Given the description of an element on the screen output the (x, y) to click on. 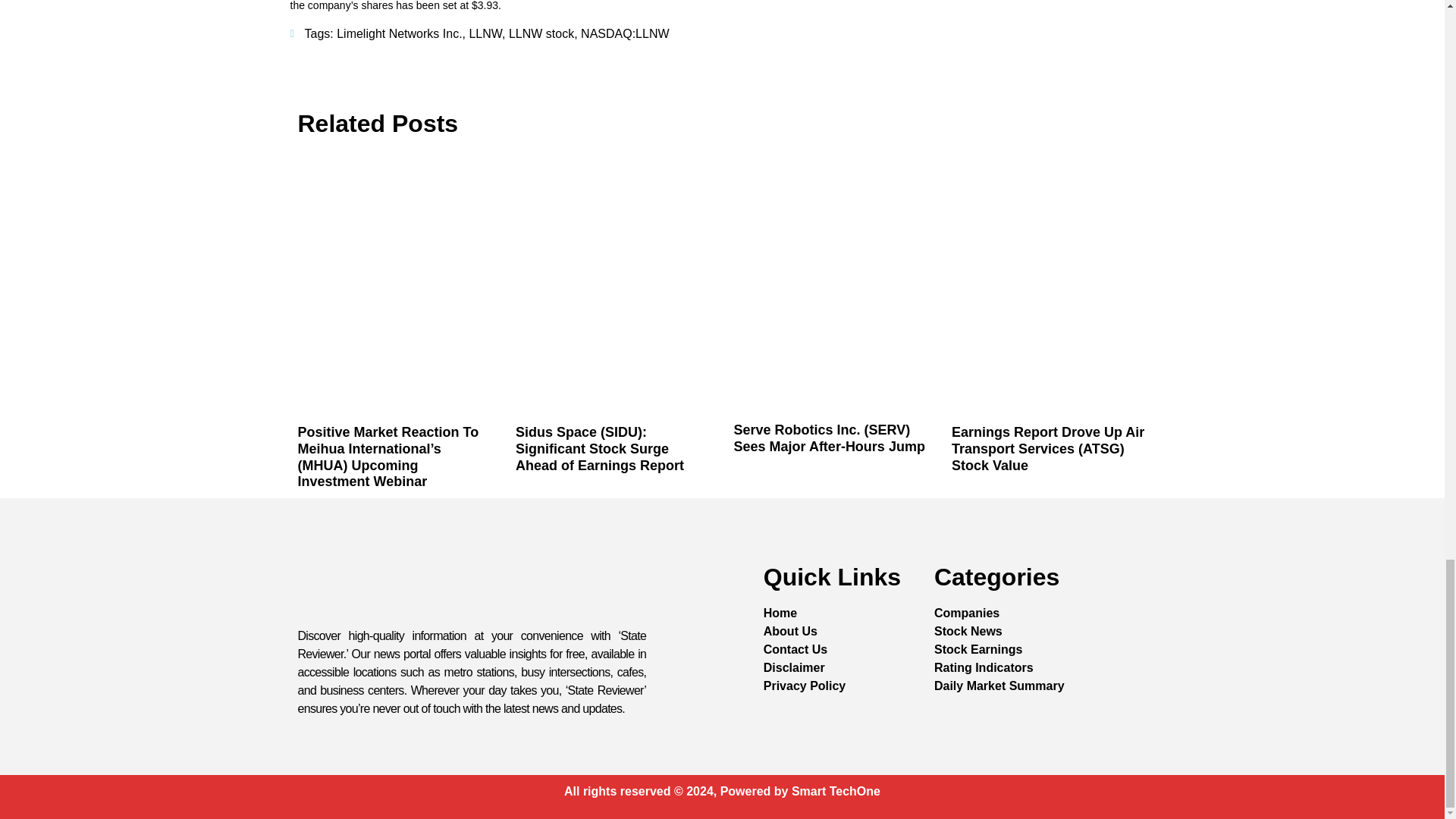
Stock News (968, 631)
Home (779, 613)
NASDAQ:LLNW (624, 33)
LLNW (485, 33)
Contact Us (794, 649)
Disclaimer (793, 668)
Privacy Policy (803, 686)
About Us (789, 631)
Limelight Networks Inc. (398, 33)
LLNW stock (540, 33)
